Given the description of an element on the screen output the (x, y) to click on. 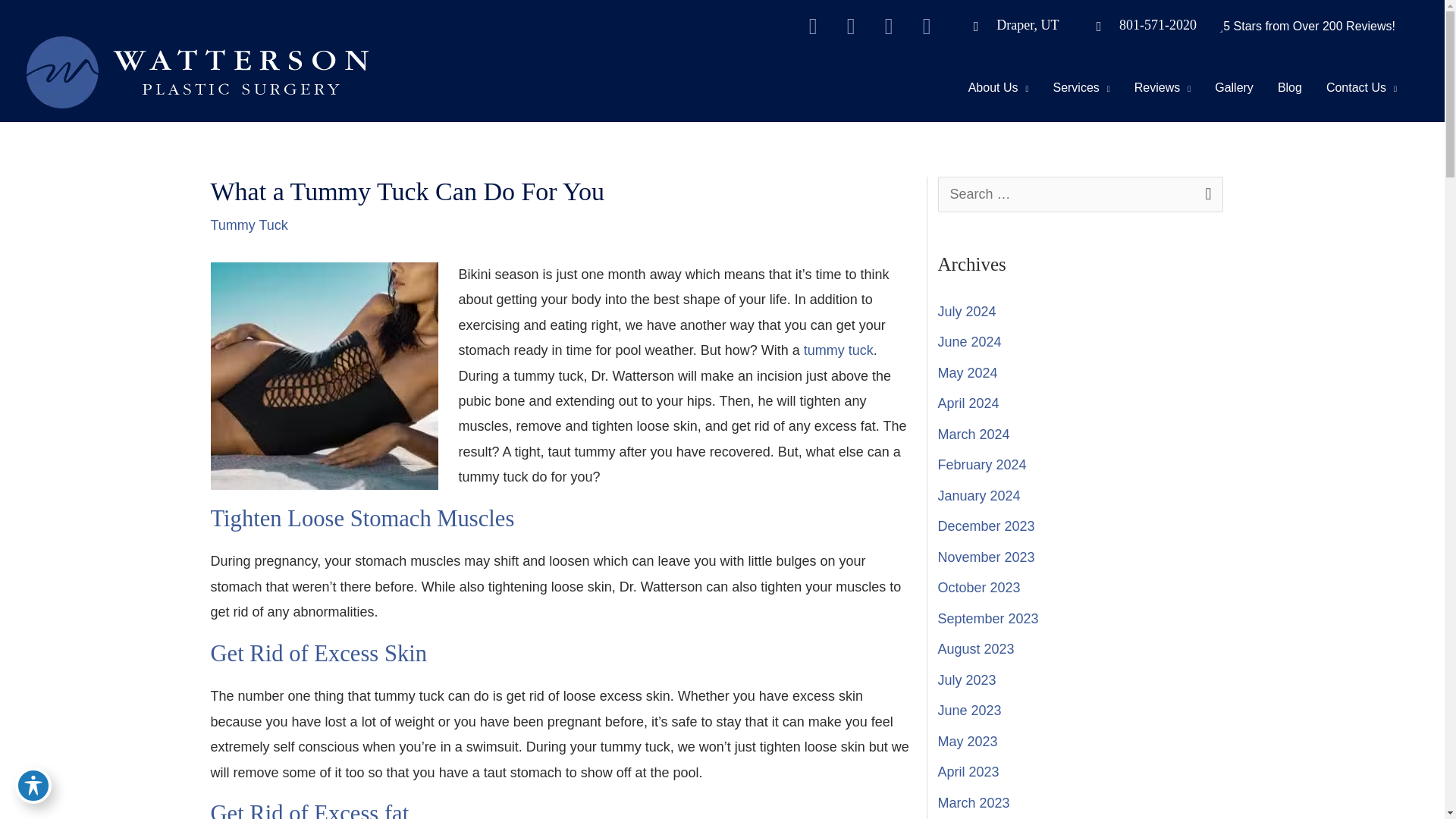
Tummy Tuck (324, 375)
Services (1081, 87)
5 Stars from Over 200 Reviews! (1308, 25)
801-571-2020 (1138, 24)
Draper, UT (1009, 24)
About Us (998, 87)
